Given the description of an element on the screen output the (x, y) to click on. 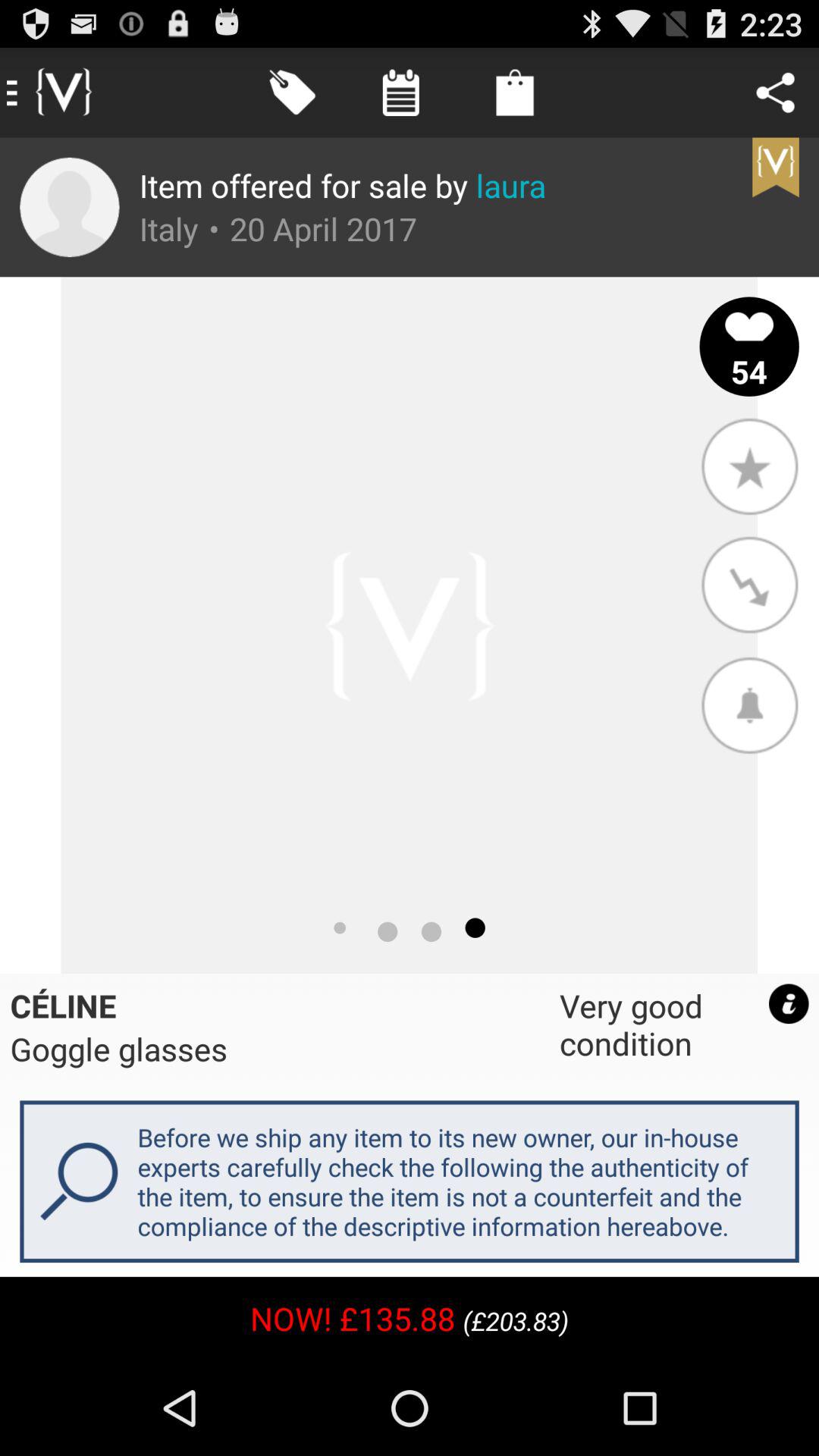
tap the item next to the item offered for app (69, 207)
